Given the description of an element on the screen output the (x, y) to click on. 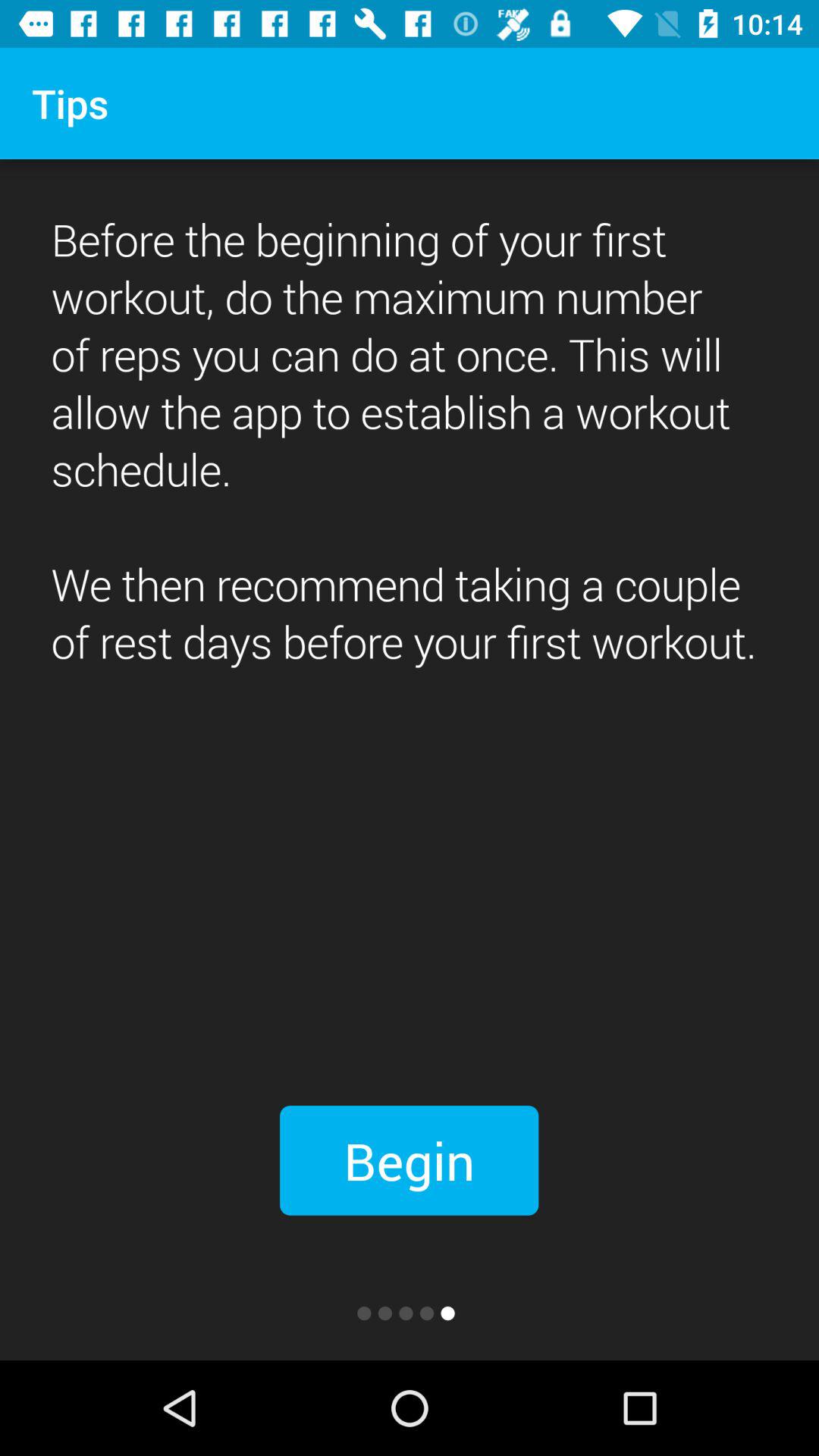
open icon below the before the beginning (408, 1160)
